Given the description of an element on the screen output the (x, y) to click on. 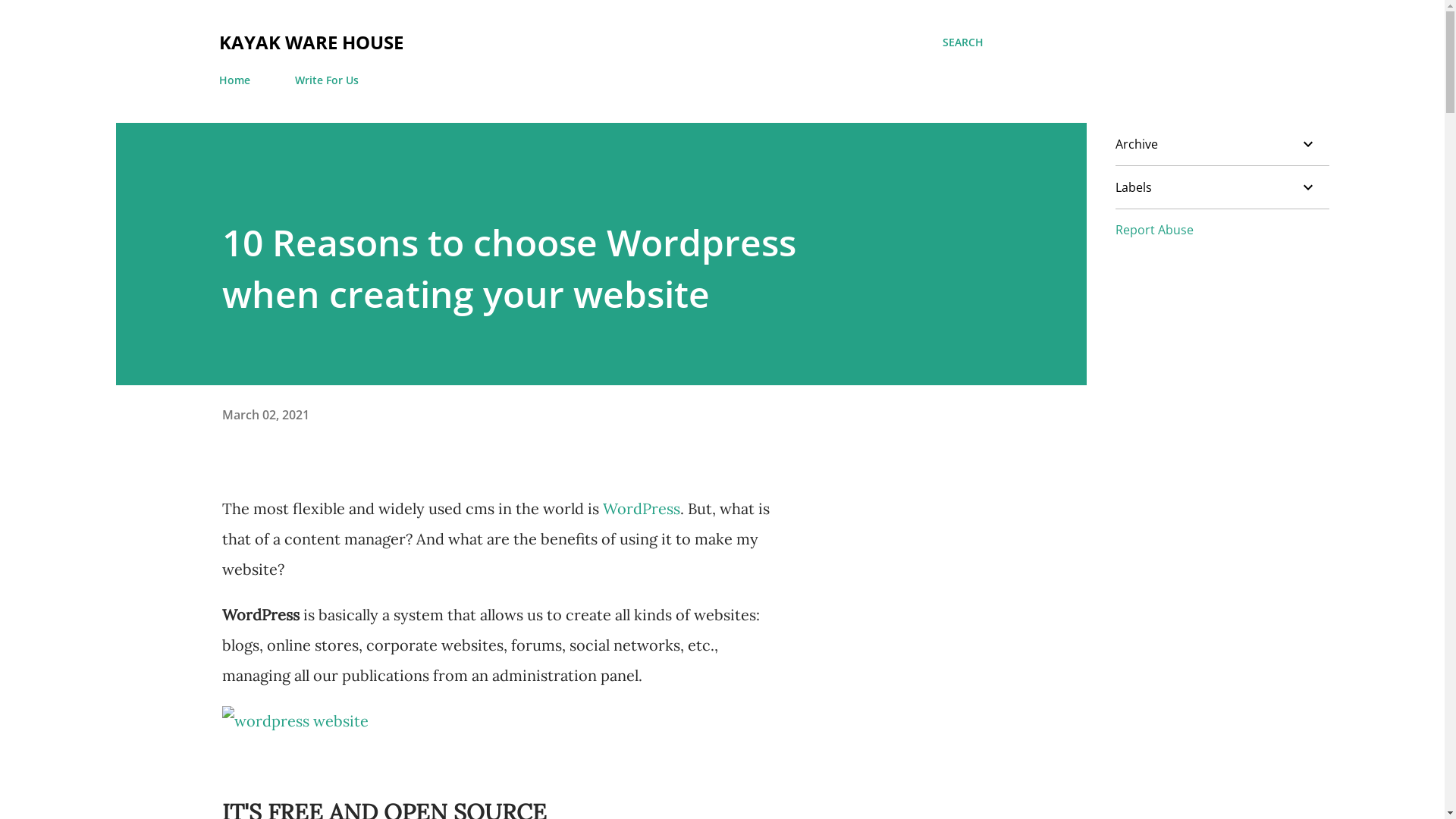
Report Abuse Element type: text (1153, 229)
WordPress Element type: text (640, 507)
Home Element type: text (238, 79)
KAYAK WARE HOUSE Element type: text (310, 41)
SEARCH Element type: text (961, 42)
Write For Us Element type: text (326, 79)
wordpress website Element type: hover (294, 721)
March 02, 2021 Element type: text (264, 414)
